Given the description of an element on the screen output the (x, y) to click on. 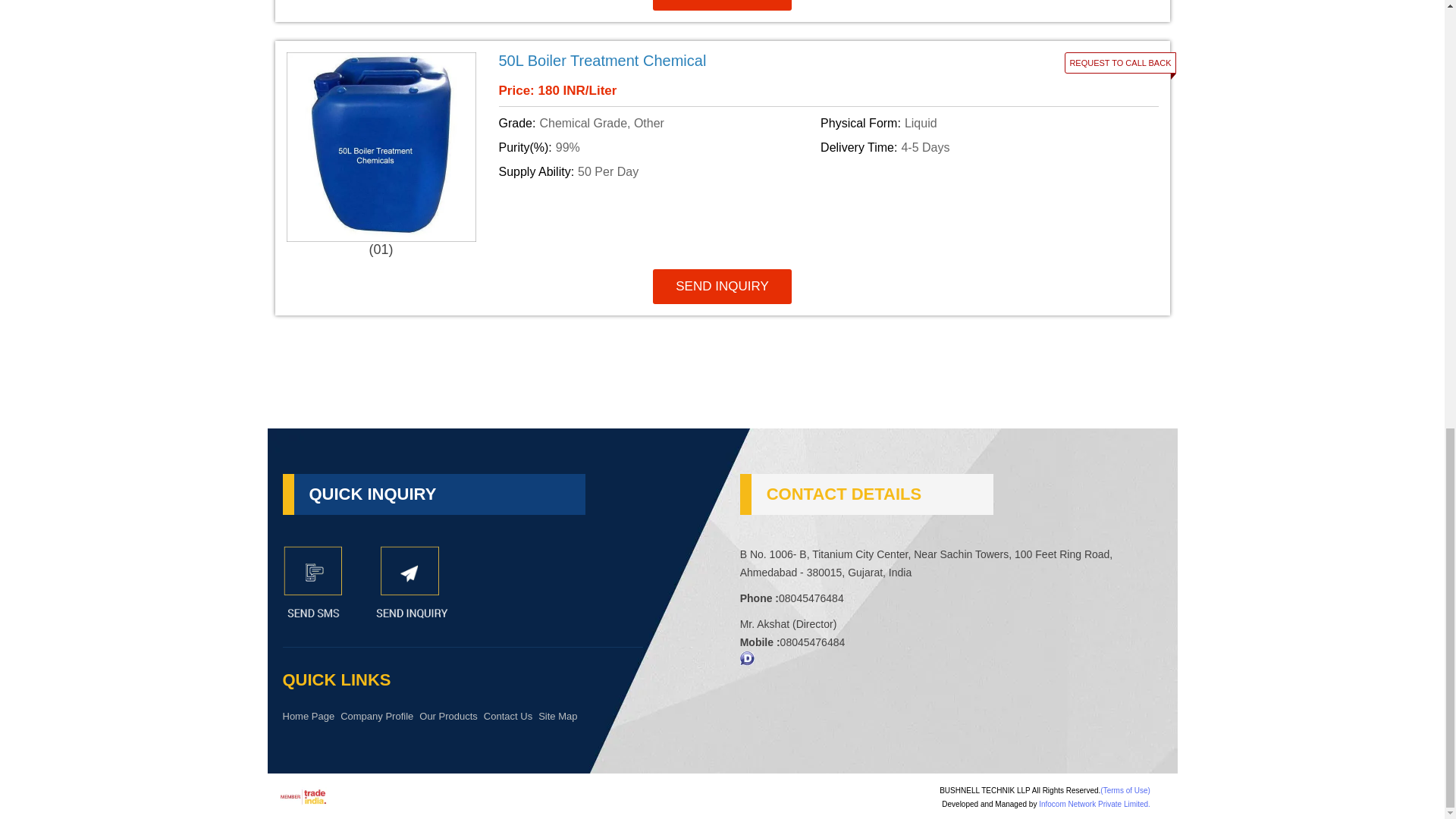
Physical Form: Liquid (979, 123)
Grade: Chemical Grade, Other (657, 123)
50L Boiler Treatment Chemical (716, 60)
Delivery Time: 4-5 Days (979, 147)
Supply Ability: 50 Per Day (657, 171)
